Given the description of an element on the screen output the (x, y) to click on. 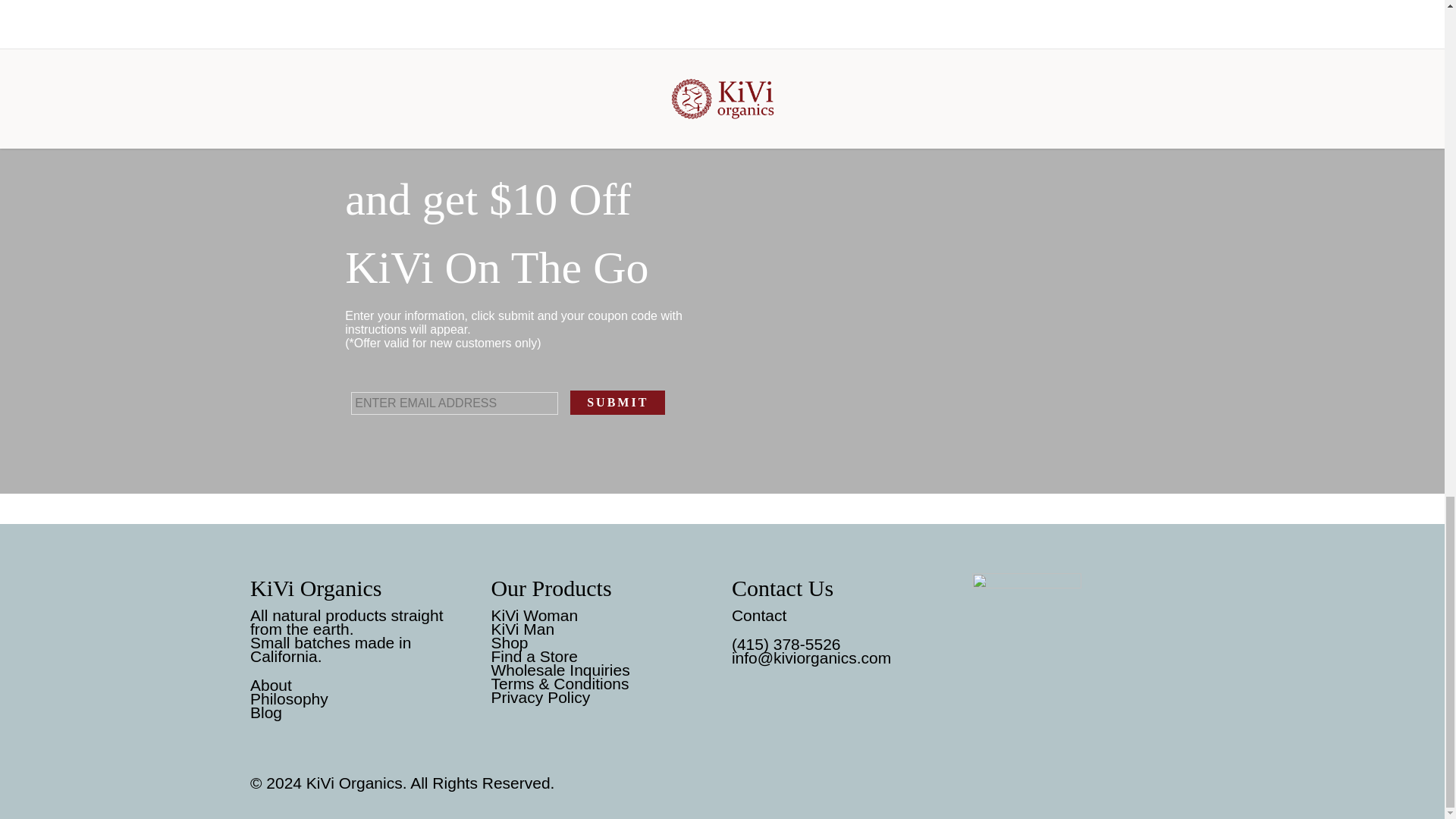
SUBMIT (617, 402)
